Given the description of an element on the screen output the (x, y) to click on. 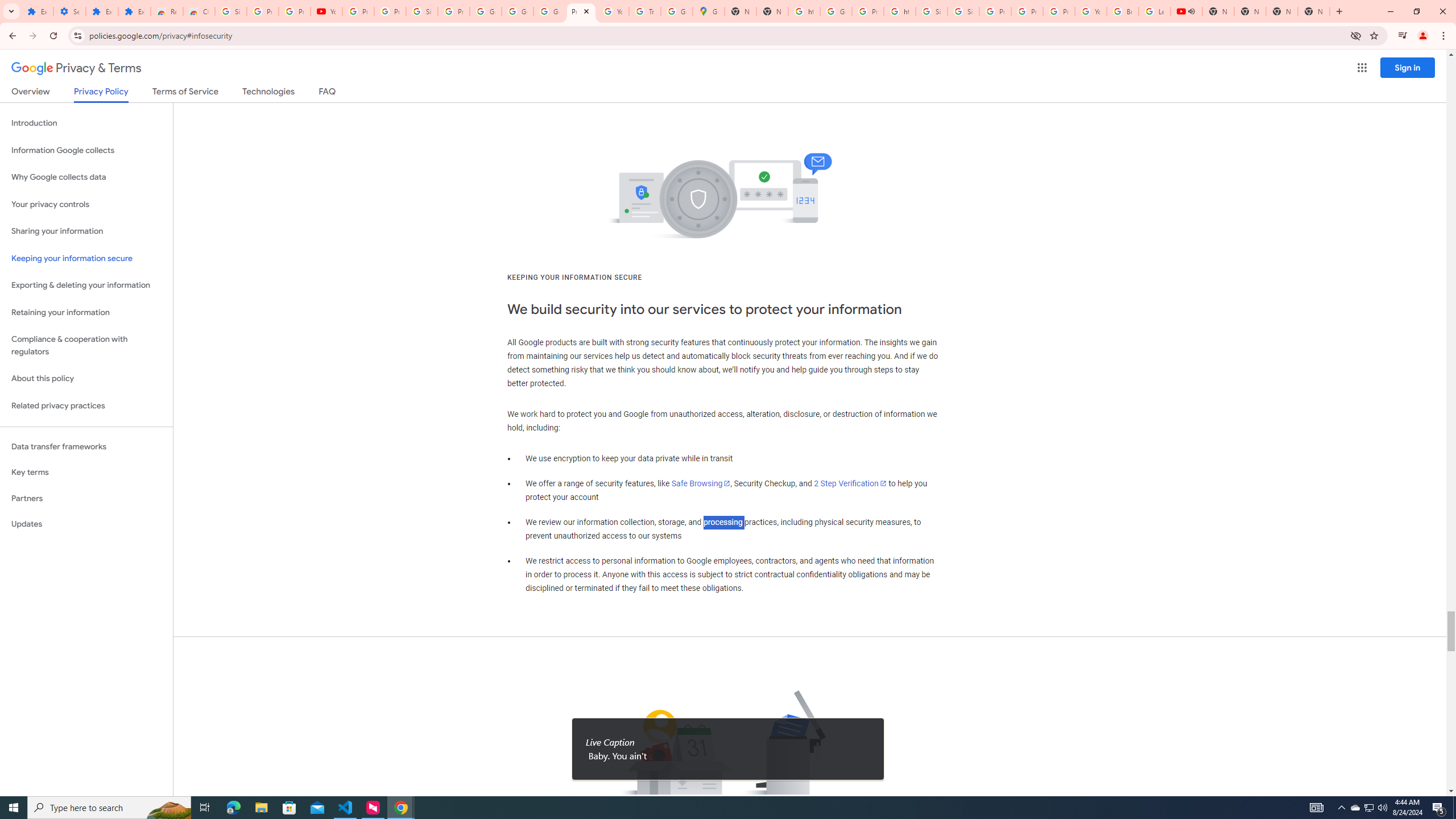
Sign in - Google Accounts (963, 11)
YouTube (1091, 11)
https://scholar.google.com/ (804, 11)
Chrome Web Store - Themes (198, 11)
Terms of Service (184, 93)
Exporting & deleting your information (86, 284)
Partners (86, 497)
Compliance & cooperation with regulators (86, 345)
Sign in (1407, 67)
Updates (86, 524)
